Given the description of an element on the screen output the (x, y) to click on. 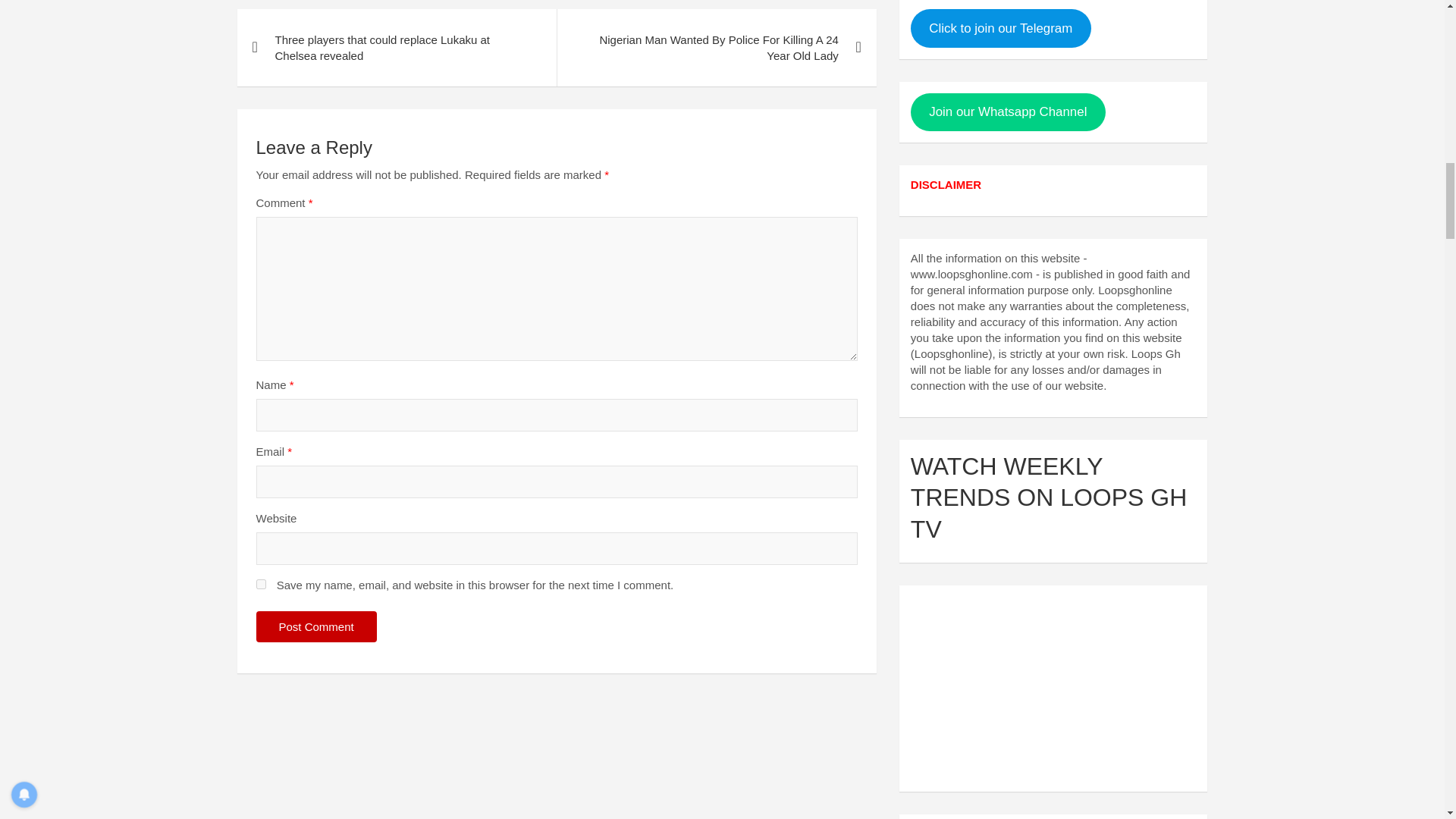
Post Comment (316, 626)
yes (261, 583)
